Given the description of an element on the screen output the (x, y) to click on. 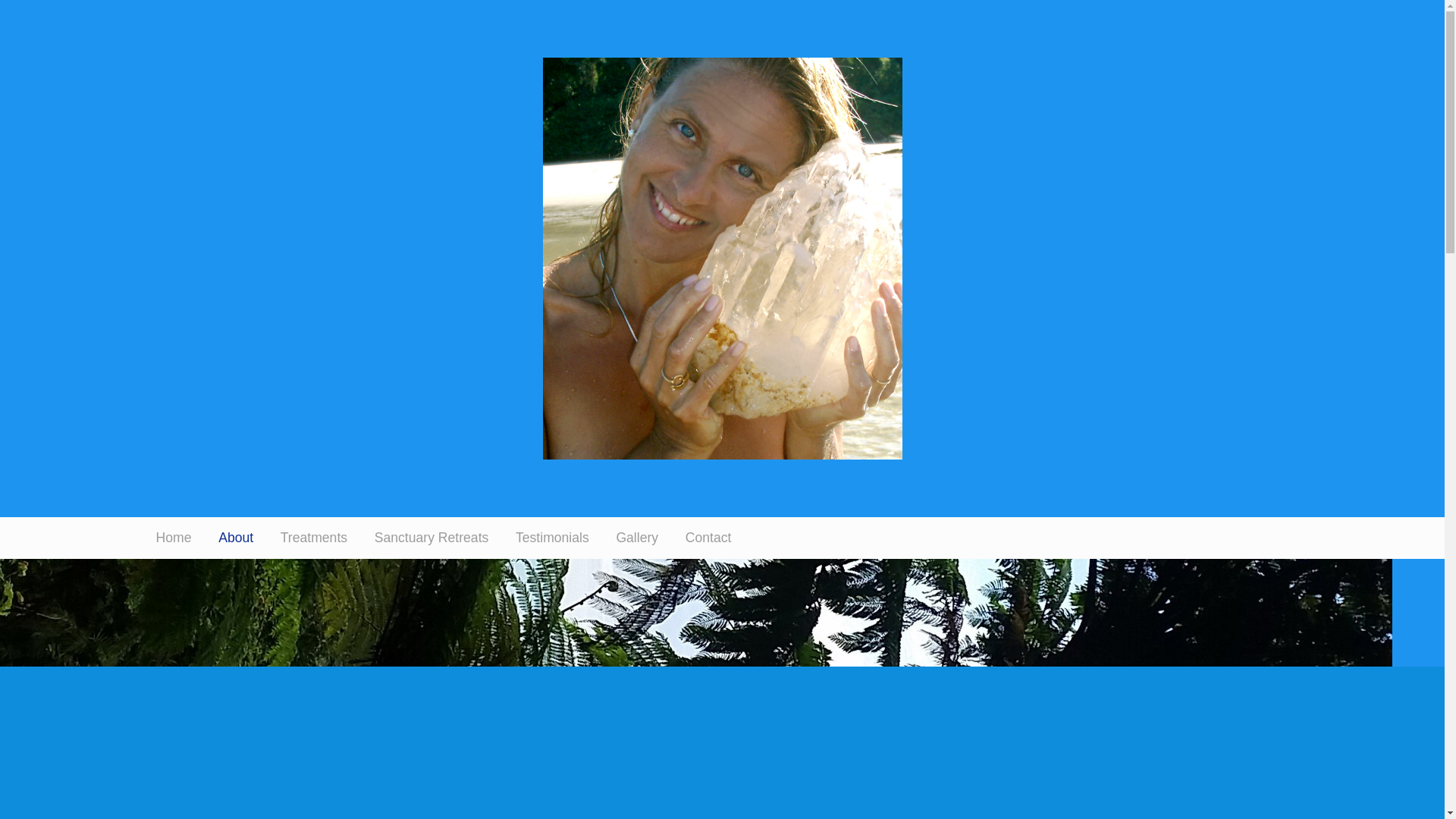
Contact Element type: text (707, 537)
Gallery Element type: text (636, 537)
About Element type: text (235, 537)
Home Element type: text (173, 537)
Sanctuary Retreats Element type: text (431, 537)
Treatments Element type: text (313, 537)
Testimonials Element type: text (552, 537)
